Given the description of an element on the screen output the (x, y) to click on. 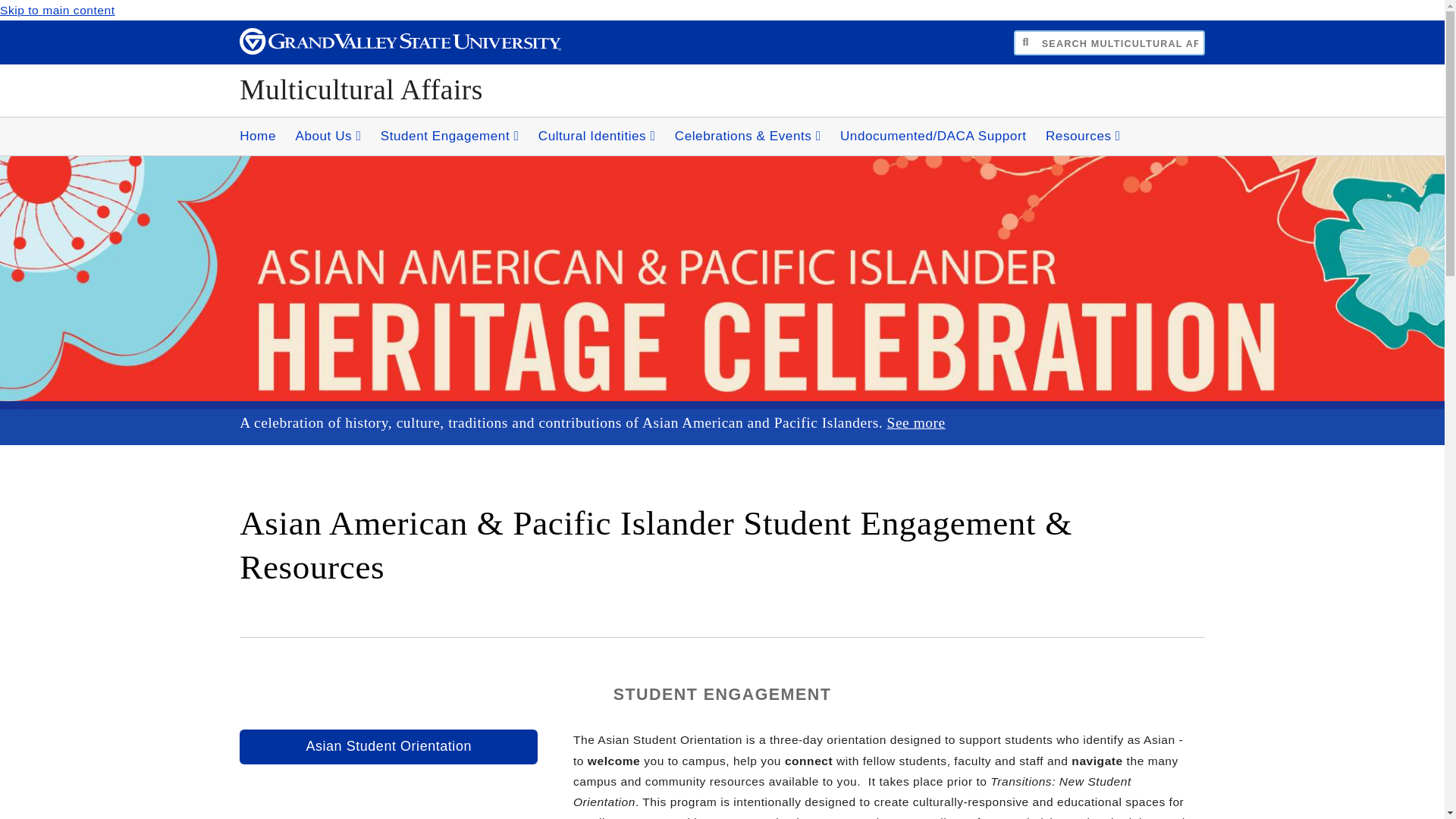
About Us (327, 136)
Asian Student Orientation (388, 746)
Cultural Identities (597, 136)
See more (915, 422)
Skip to main content (57, 10)
Multicultural Affairs (361, 89)
Student Engagement (449, 136)
Resources (1083, 136)
Home (257, 136)
